Given the description of an element on the screen output the (x, y) to click on. 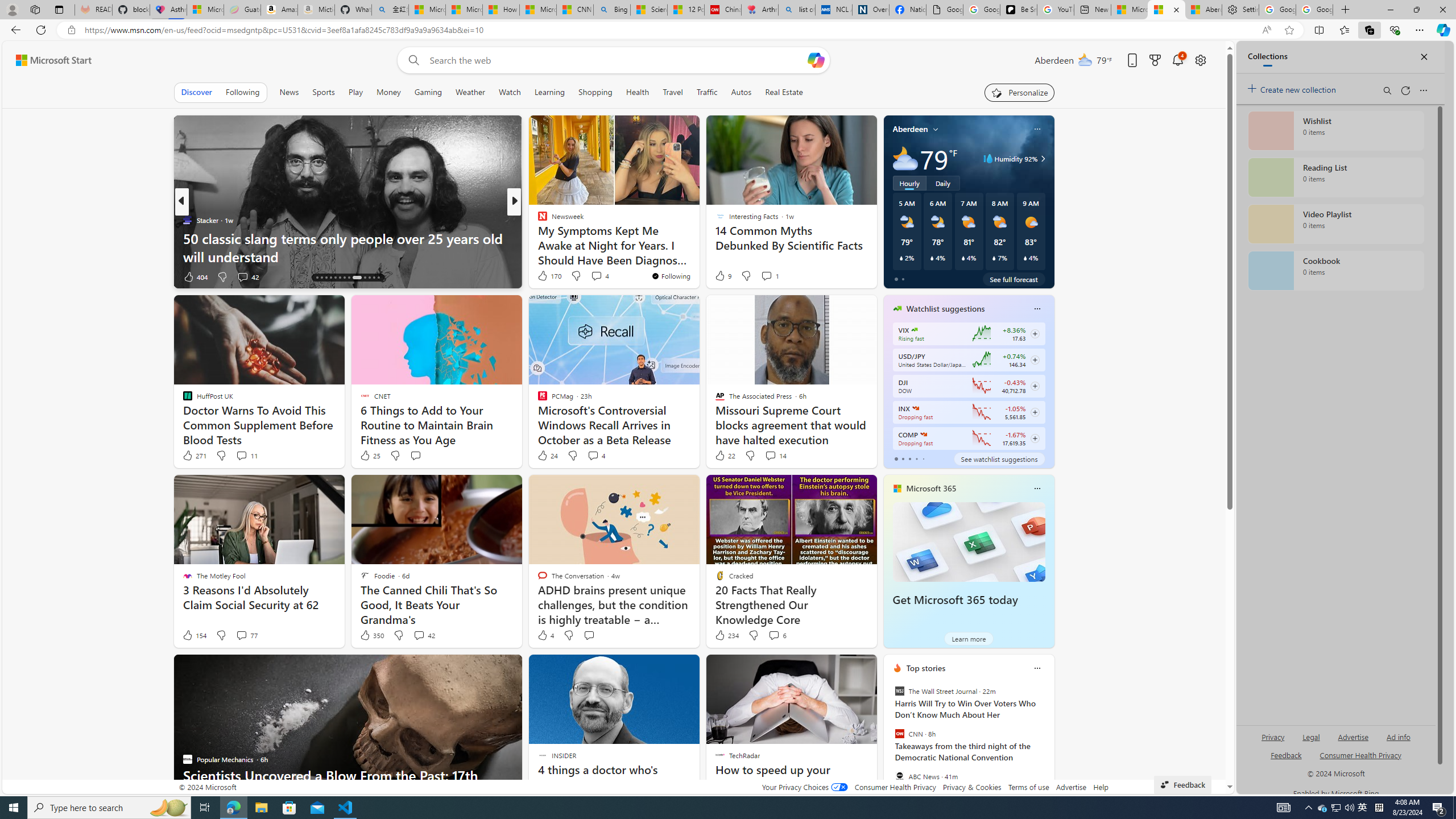
Humidity 92% (1040, 158)
View comments 231 Comment (588, 276)
View comments 4 Comment (596, 455)
CNN - MSN (574, 9)
Class: weather-arrow-glyph (1043, 158)
View comments 6 Comment (776, 634)
